Given the description of an element on the screen output the (x, y) to click on. 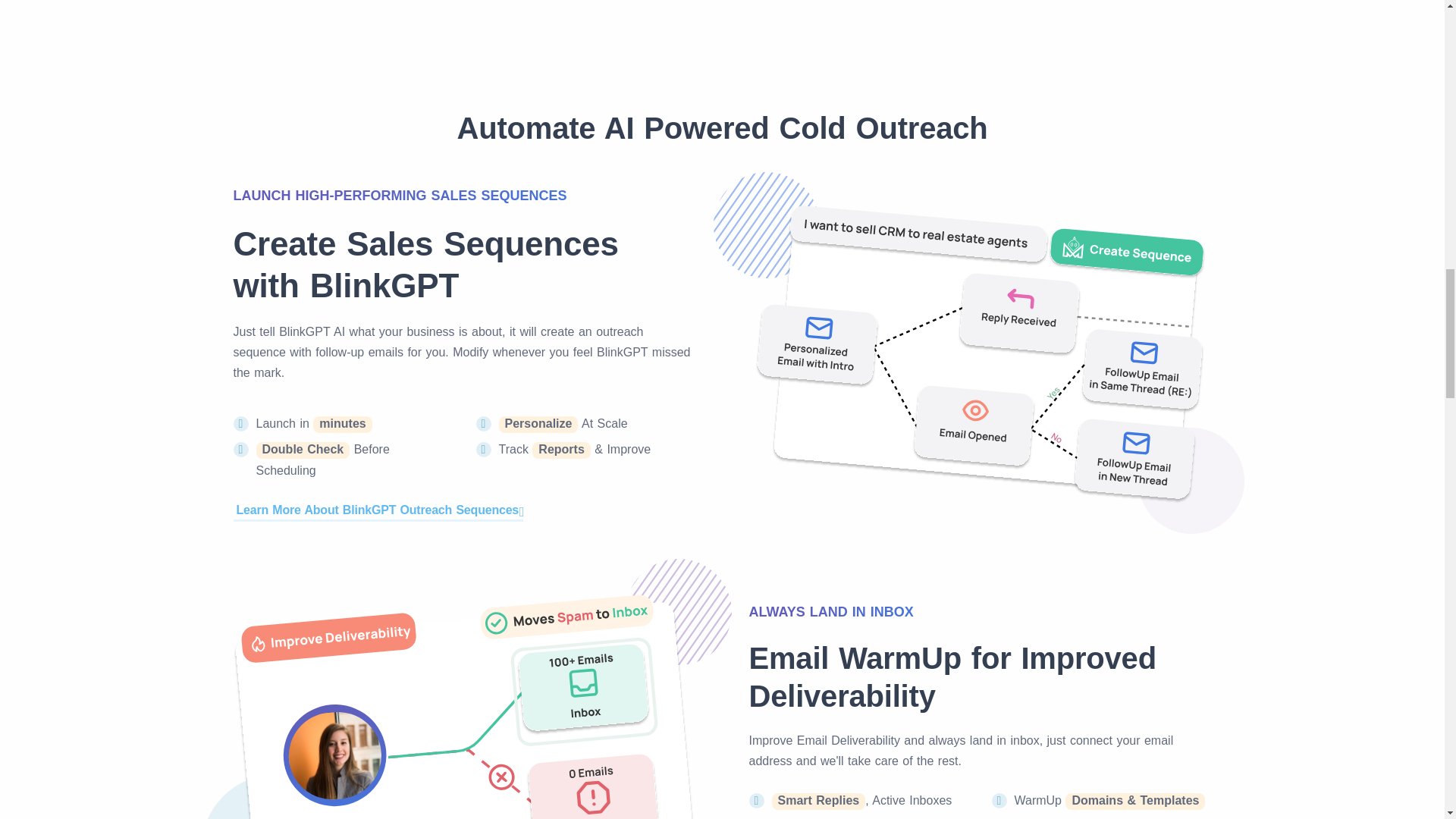
SalesBlink Email WarmUp Deliverability (463, 703)
Learn More About BlinkGPT Outreach Sequences (378, 509)
